Given the description of an element on the screen output the (x, y) to click on. 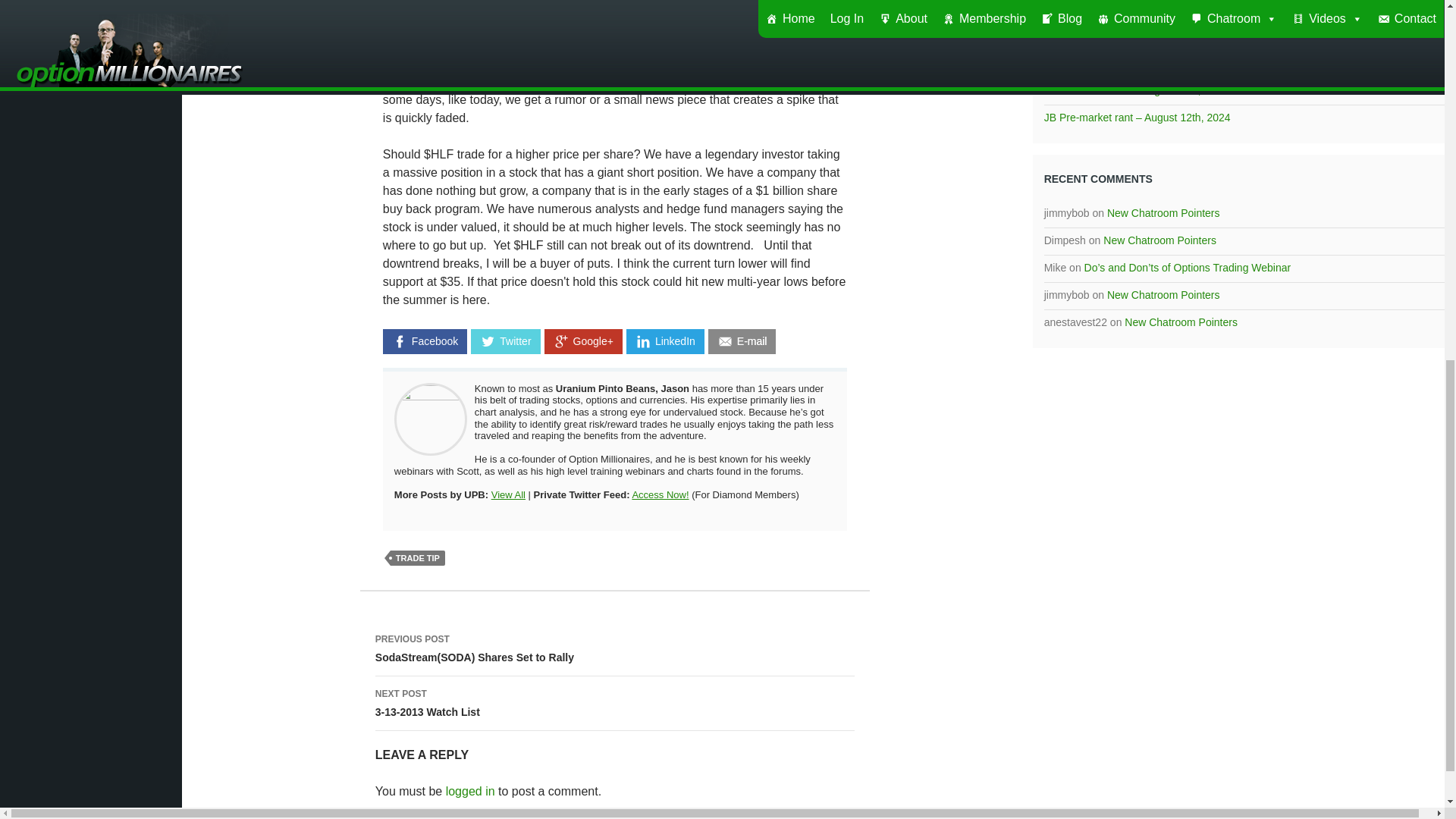
Share this article on Twitter (505, 341)
Share this article on LinkedIn (665, 341)
Share this article on Facebook (424, 341)
